Given the description of an element on the screen output the (x, y) to click on. 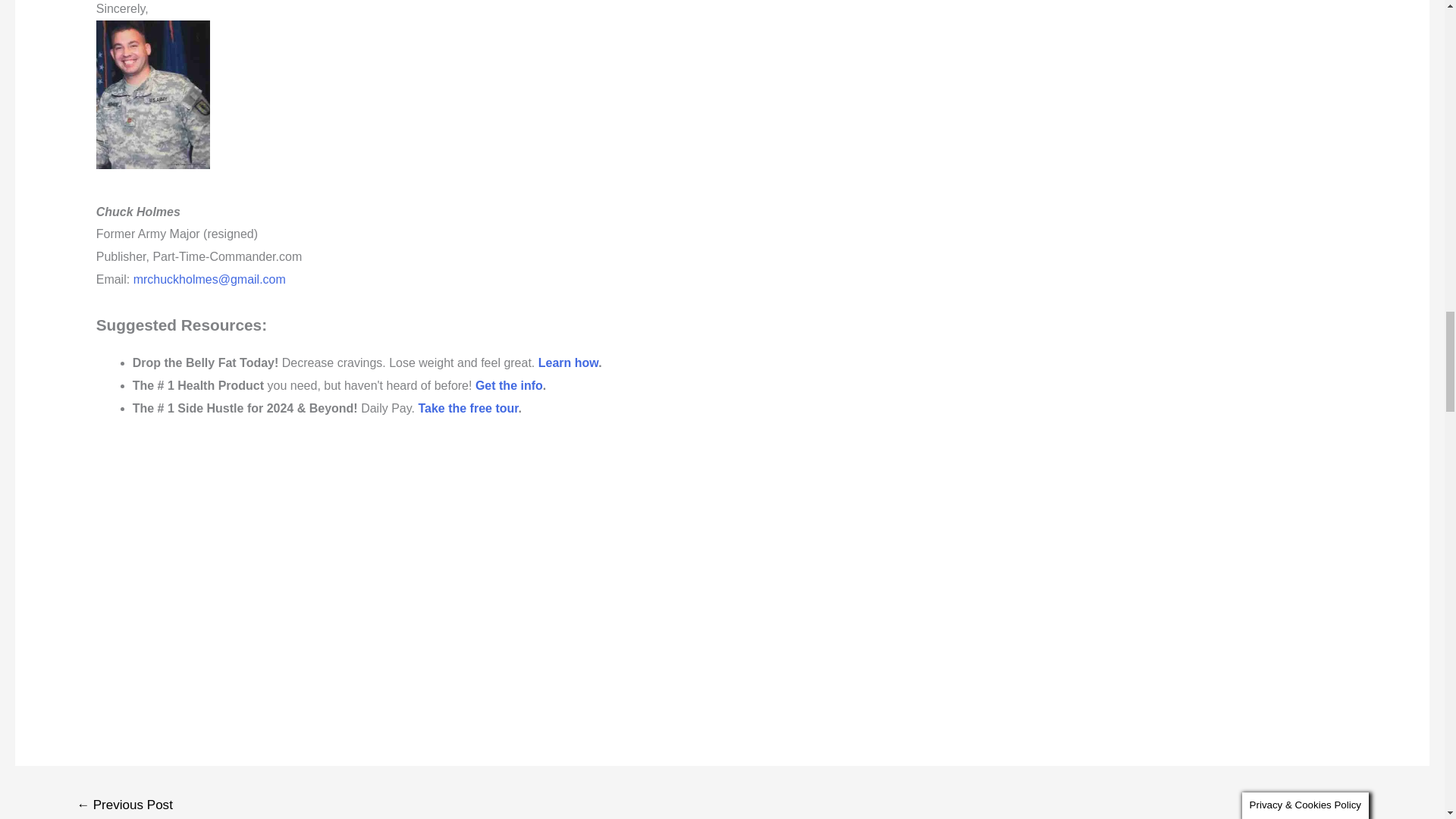
Get the info (509, 385)
Learn how (568, 362)
Take the free tour (467, 408)
